Given the description of an element on the screen output the (x, y) to click on. 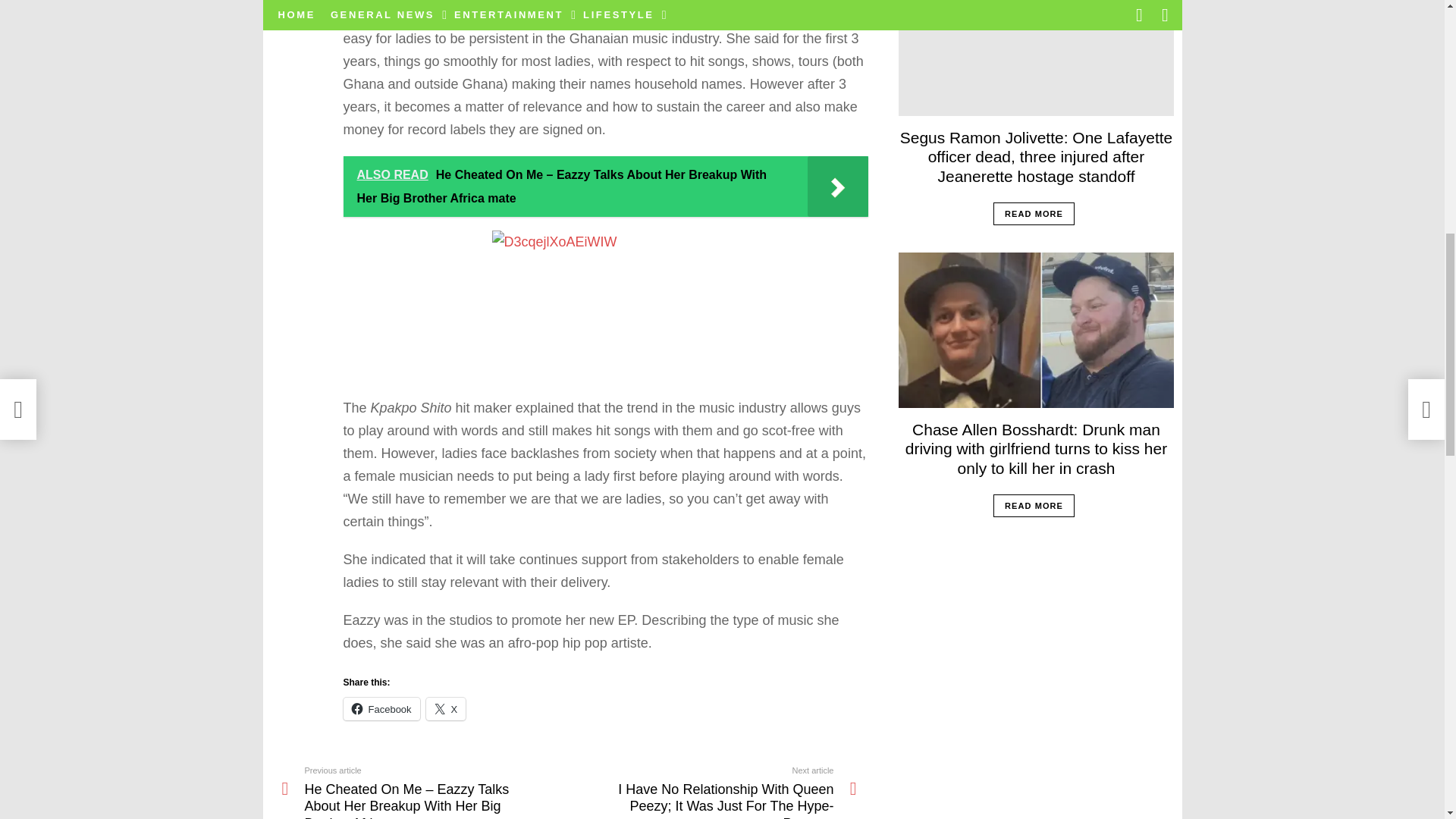
ghlinks.com.gh (491, 15)
Click to share on X (445, 708)
Click to share on Facebook (380, 708)
Facebook (380, 708)
X (445, 708)
